Given the description of an element on the screen output the (x, y) to click on. 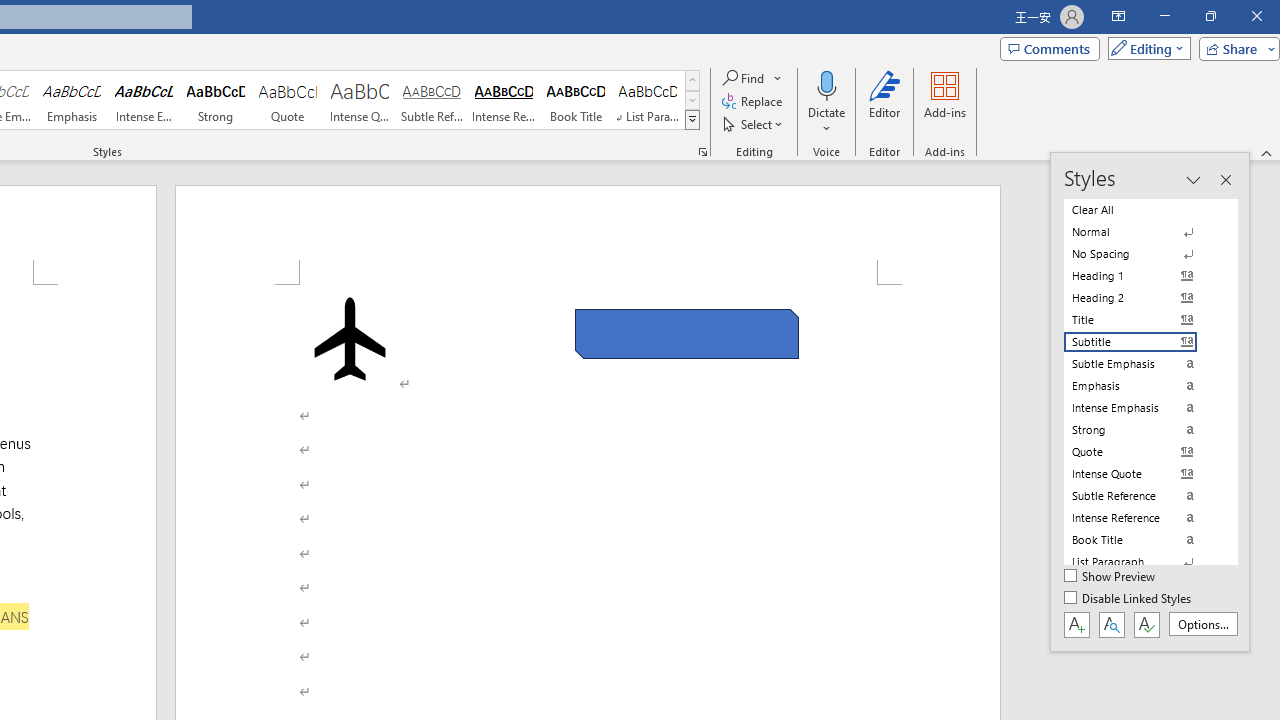
Normal (1142, 232)
Airplane with solid fill (349, 338)
Show Preview (1110, 577)
No Spacing (1142, 253)
Disable Linked Styles (1129, 599)
Heading 2 (1142, 297)
Quote (287, 100)
Book Title (575, 100)
